Given the description of an element on the screen output the (x, y) to click on. 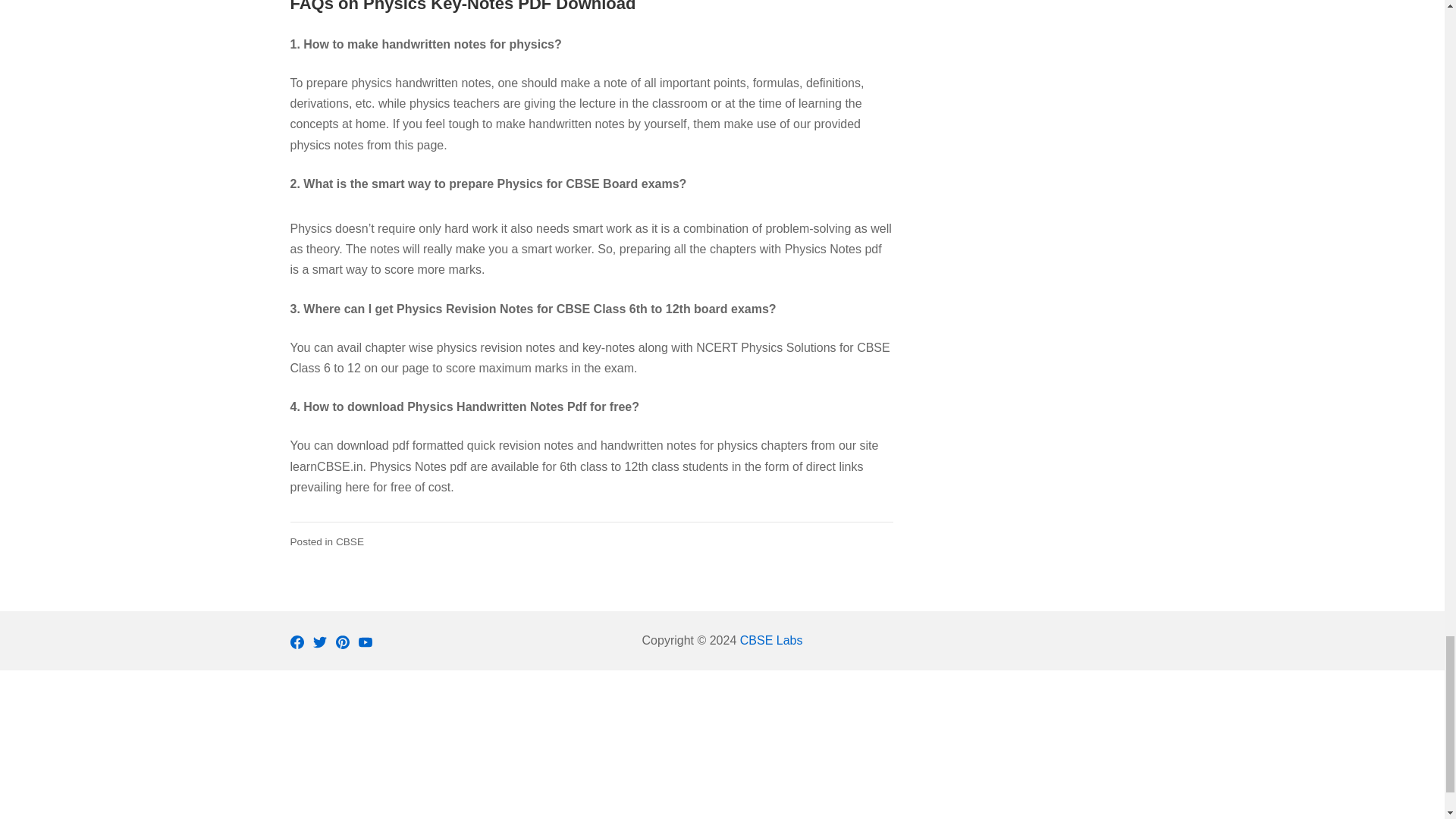
Pinterest icon (341, 642)
Twitter icon (319, 642)
YouTube icon (364, 642)
